Given the description of an element on the screen output the (x, y) to click on. 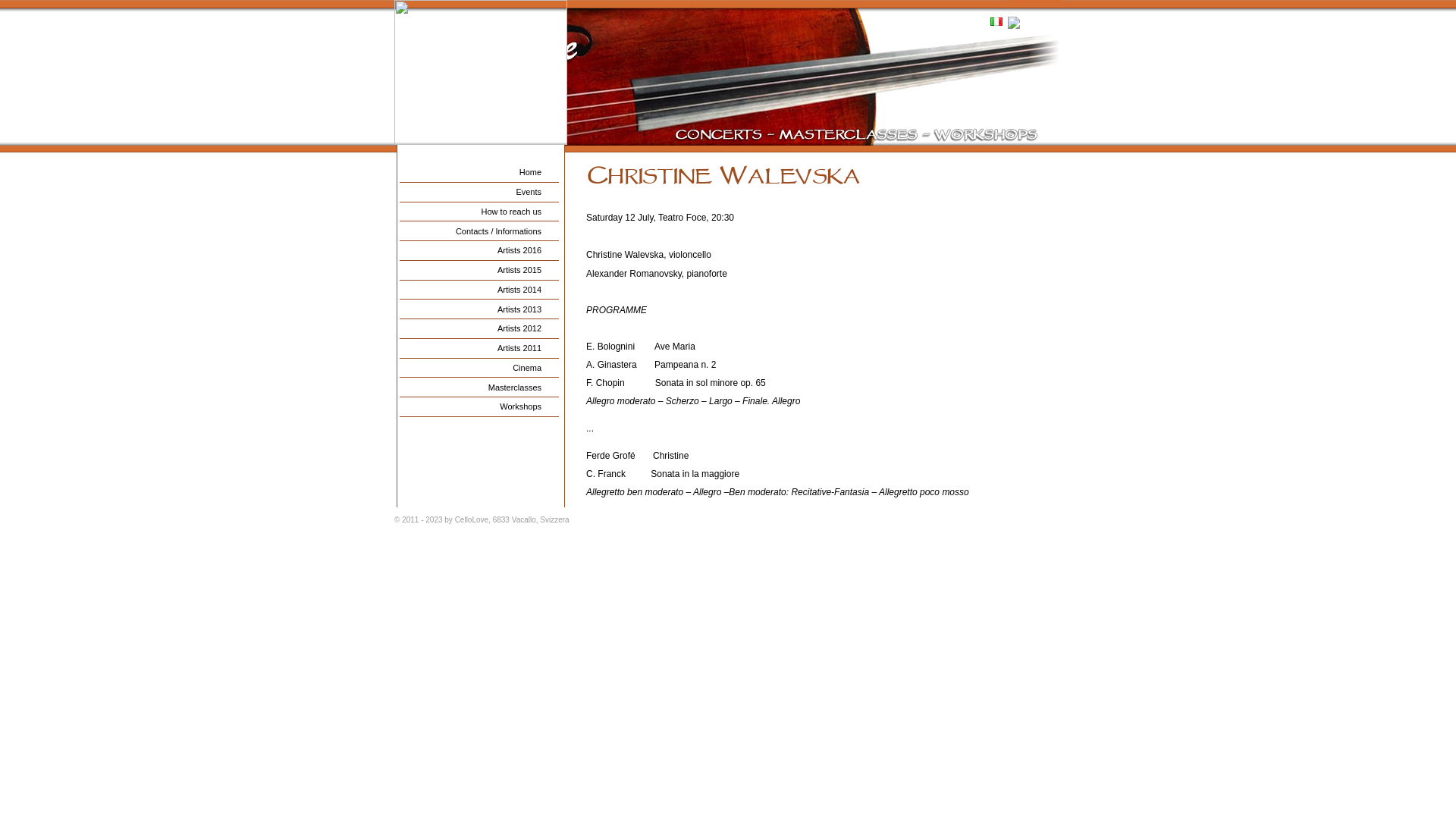
Artists 2015 Element type: text (478, 270)
Masterclasses Element type: text (478, 387)
Artists 2013 Element type: text (478, 309)
Italiano Element type: hover (996, 21)
How to reach us Element type: text (478, 211)
English Element type: hover (1025, 22)
Artists 2011 Element type: text (478, 348)
Christine Walevska Element type: hover (815, 178)
Artists 2014 Element type: text (478, 290)
Artists 2012 Element type: text (478, 328)
Events Element type: text (478, 192)
Artists 2016 Element type: text (478, 250)
Cinema Element type: text (478, 367)
Contacts / Informations Element type: text (478, 231)
Home Element type: text (478, 172)
Workshops Element type: text (478, 407)
